Given the description of an element on the screen output the (x, y) to click on. 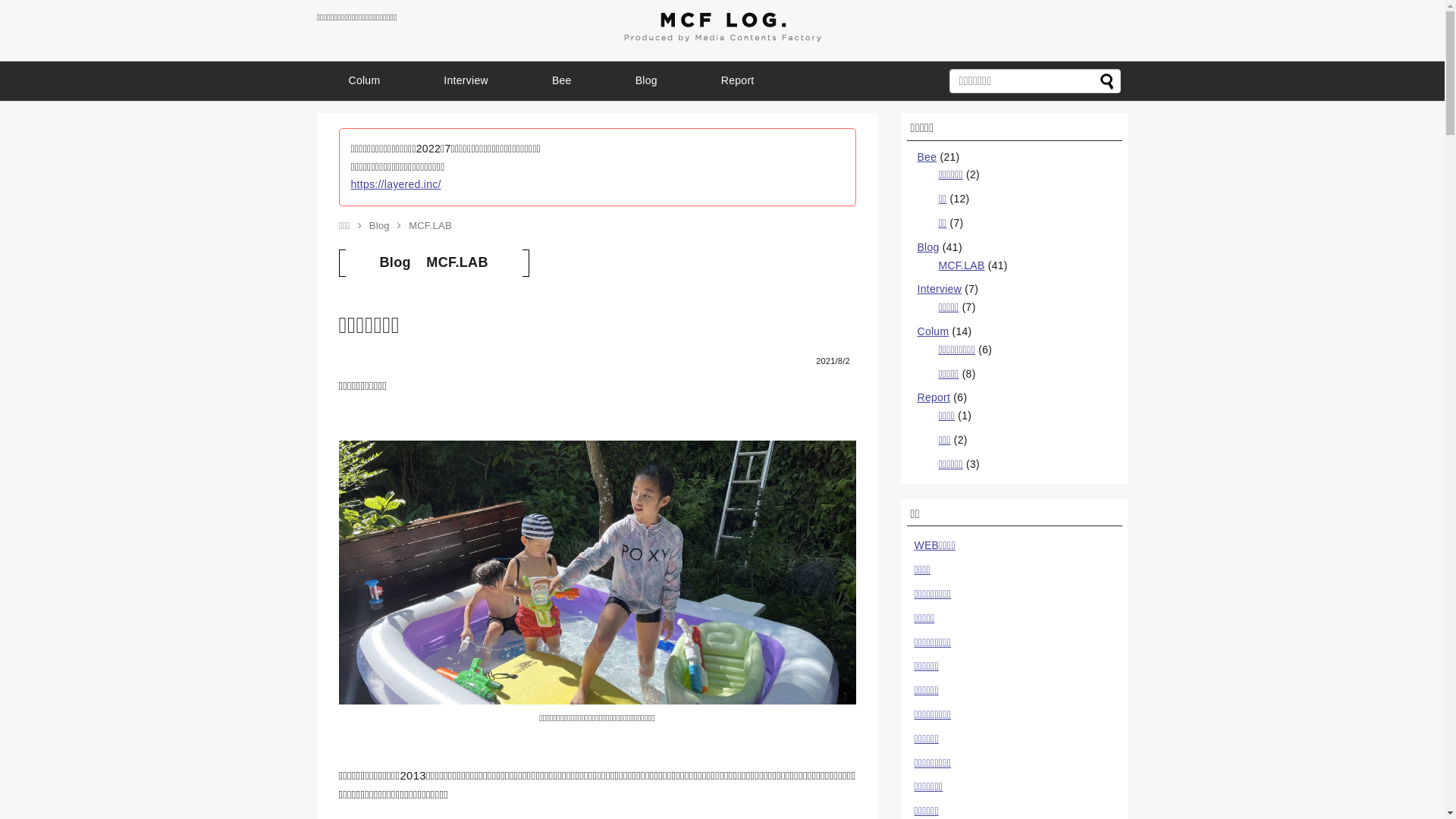
Blog Element type: text (928, 247)
Report Element type: text (737, 80)
Report Element type: text (933, 397)
Blog Element type: text (394, 261)
MCF.LAB Element type: text (429, 225)
Colum Element type: text (933, 331)
Blog Element type: text (646, 80)
Bee Element type: text (561, 80)
Interview Element type: text (465, 80)
MCF.LAB Element type: text (961, 265)
MCF.LAB Element type: text (457, 261)
Interview Element type: text (939, 288)
Blog Element type: text (379, 225)
https://layered.inc/ Element type: text (395, 184)
Colum Element type: text (364, 80)
Bee Element type: text (927, 156)
